Given the description of an element on the screen output the (x, y) to click on. 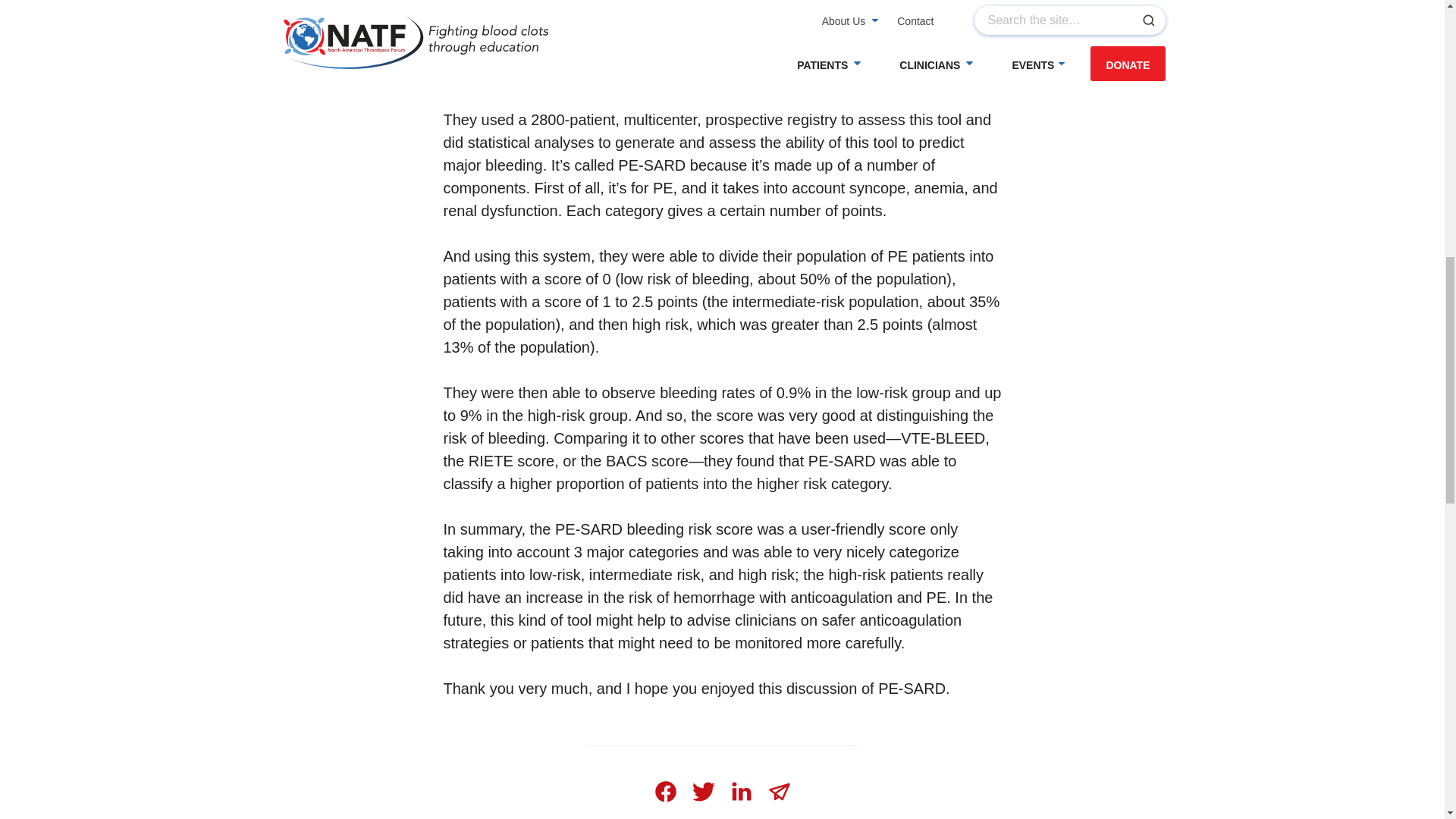
Share on LinkedIn (741, 791)
Share on Twitter (703, 791)
Share via Email (778, 791)
Share on Facebook (665, 791)
